Given the description of an element on the screen output the (x, y) to click on. 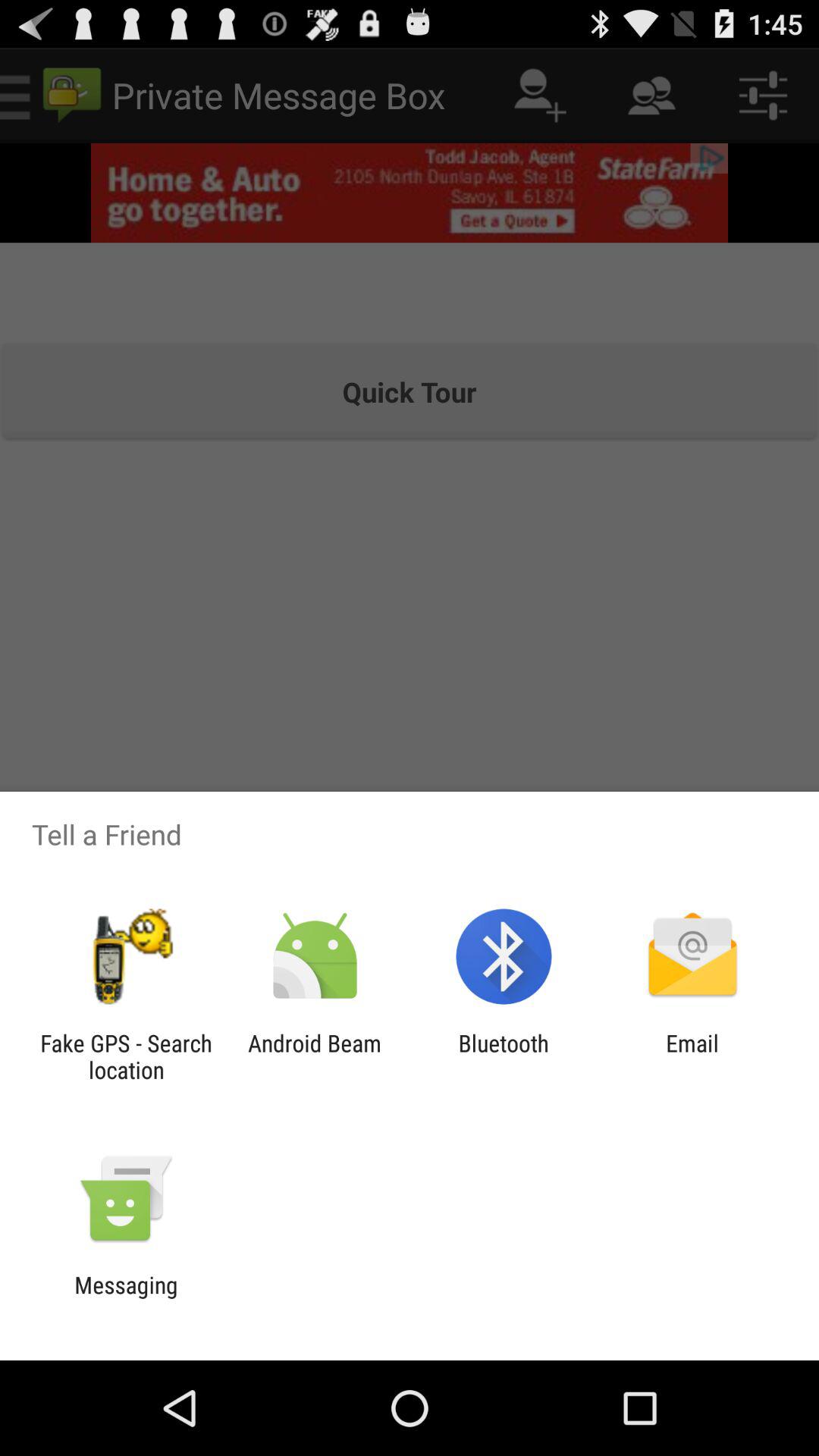
choose the item to the right of bluetooth (692, 1056)
